Given the description of an element on the screen output the (x, y) to click on. 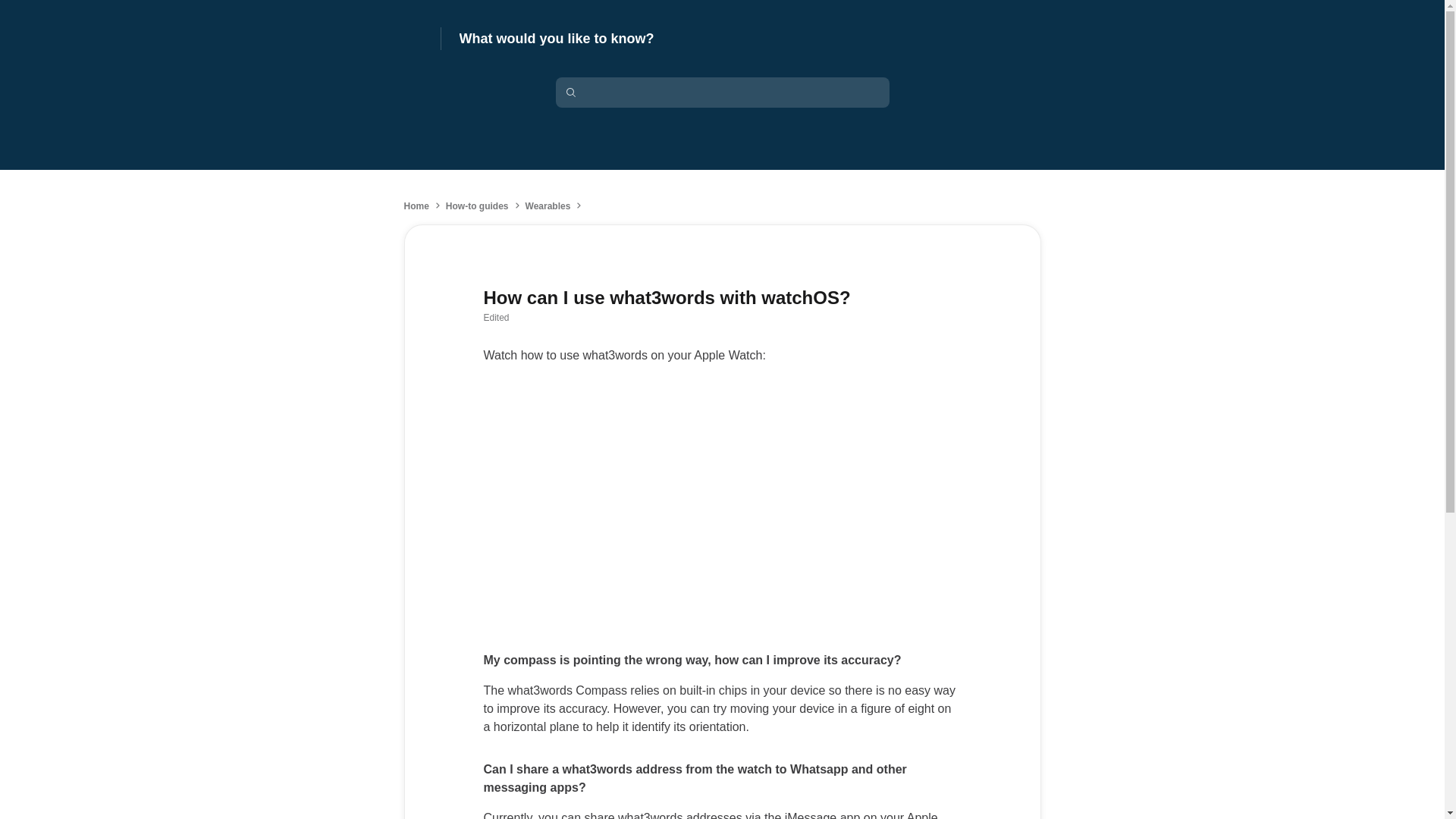
Home (415, 205)
Wearables (547, 205)
How-to guides (476, 205)
What would you like to know? (556, 38)
